Given the description of an element on the screen output the (x, y) to click on. 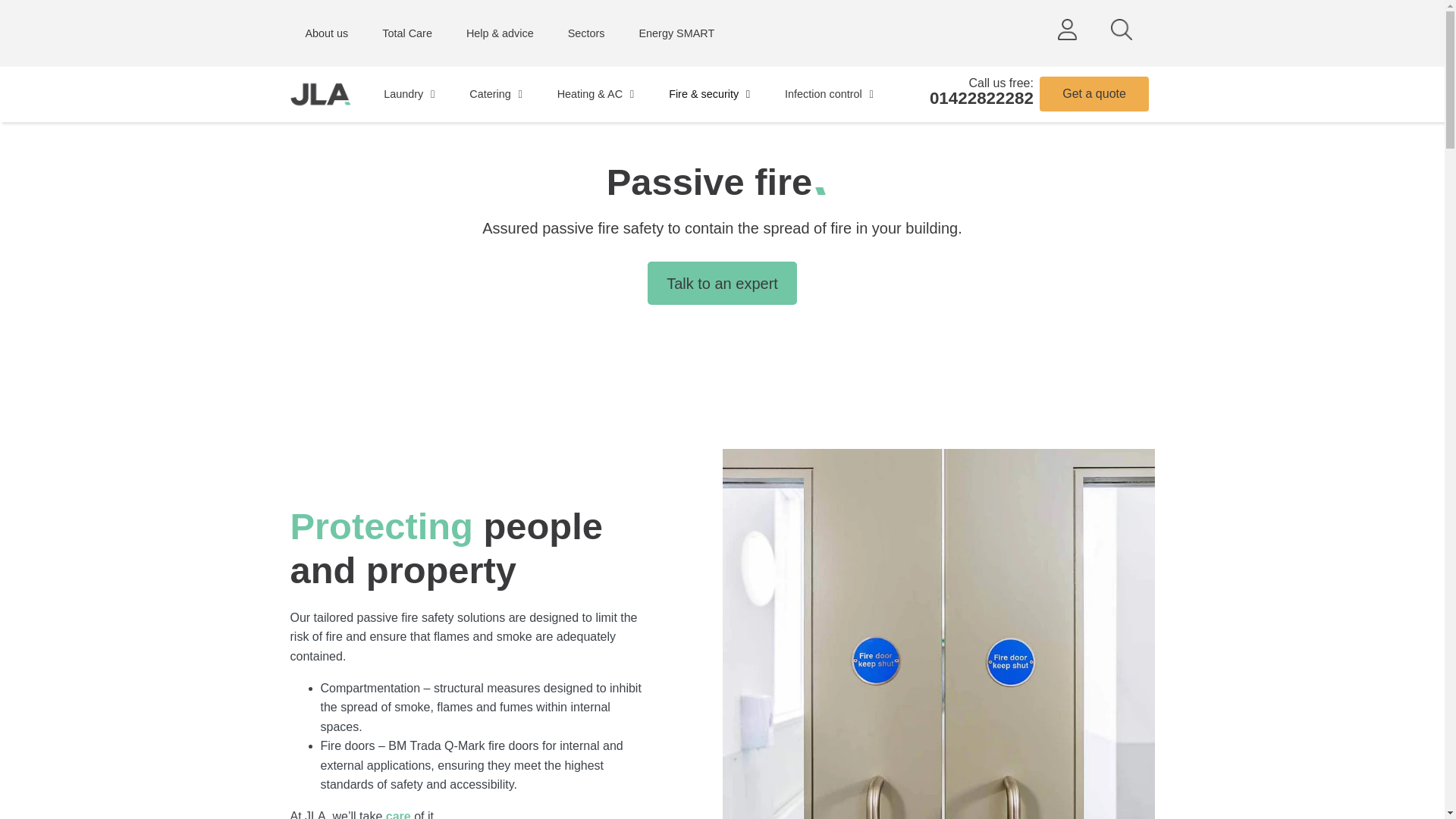
Total Care (408, 33)
Sectors (588, 33)
About us (327, 33)
Energy SMART (676, 33)
